Given the description of an element on the screen output the (x, y) to click on. 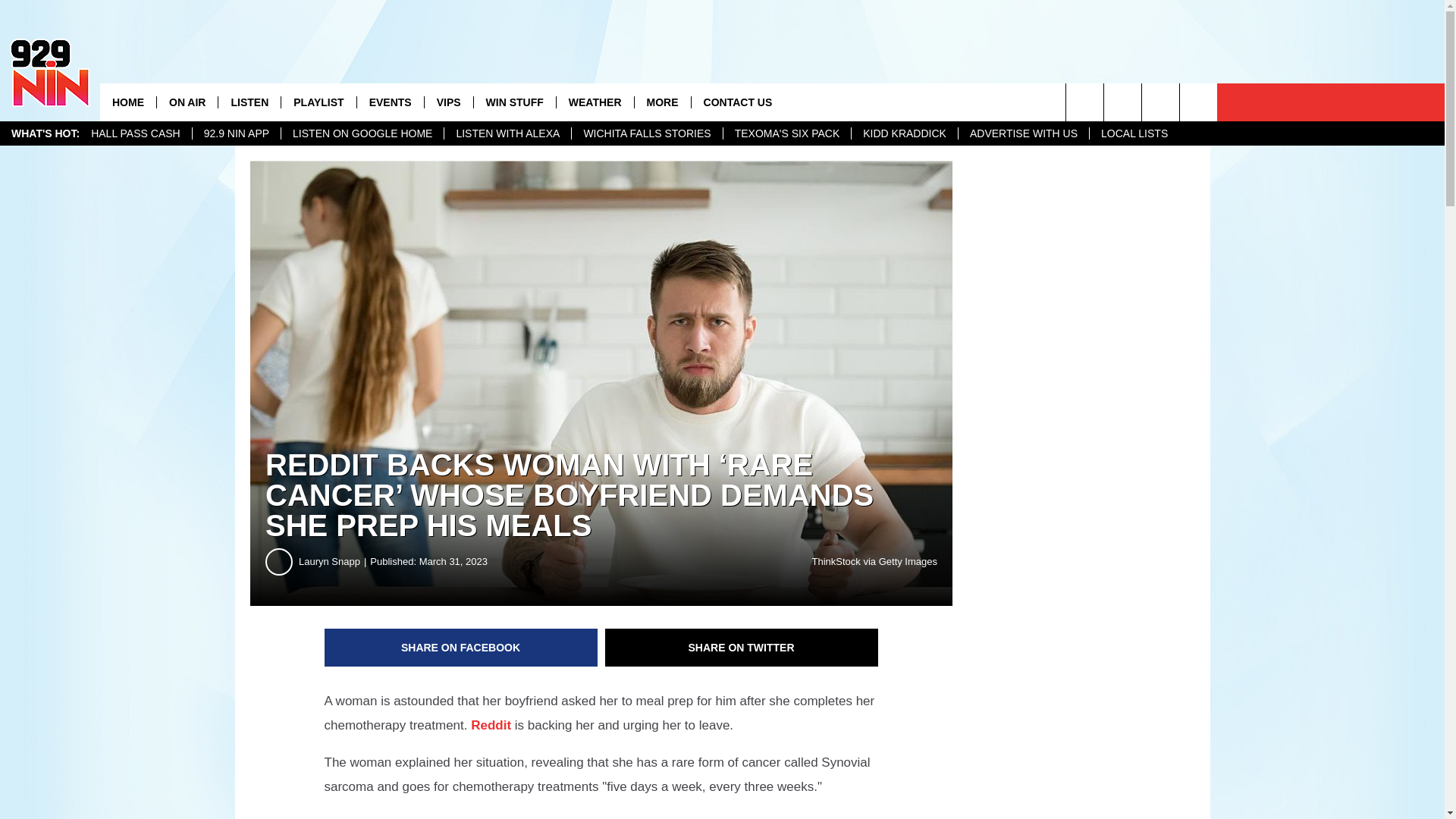
LISTEN WITH ALEXA (507, 133)
WICHITA FALLS STORIES (646, 133)
LISTEN ON GOOGLE HOME (362, 133)
KIDD KRADDICK (904, 133)
92.9 NIN APP (236, 133)
Share on Facebook (460, 647)
Share on Twitter (741, 647)
ADVERTISE WITH US (1023, 133)
LISTEN (248, 102)
ON AIR (185, 102)
